Given the description of an element on the screen output the (x, y) to click on. 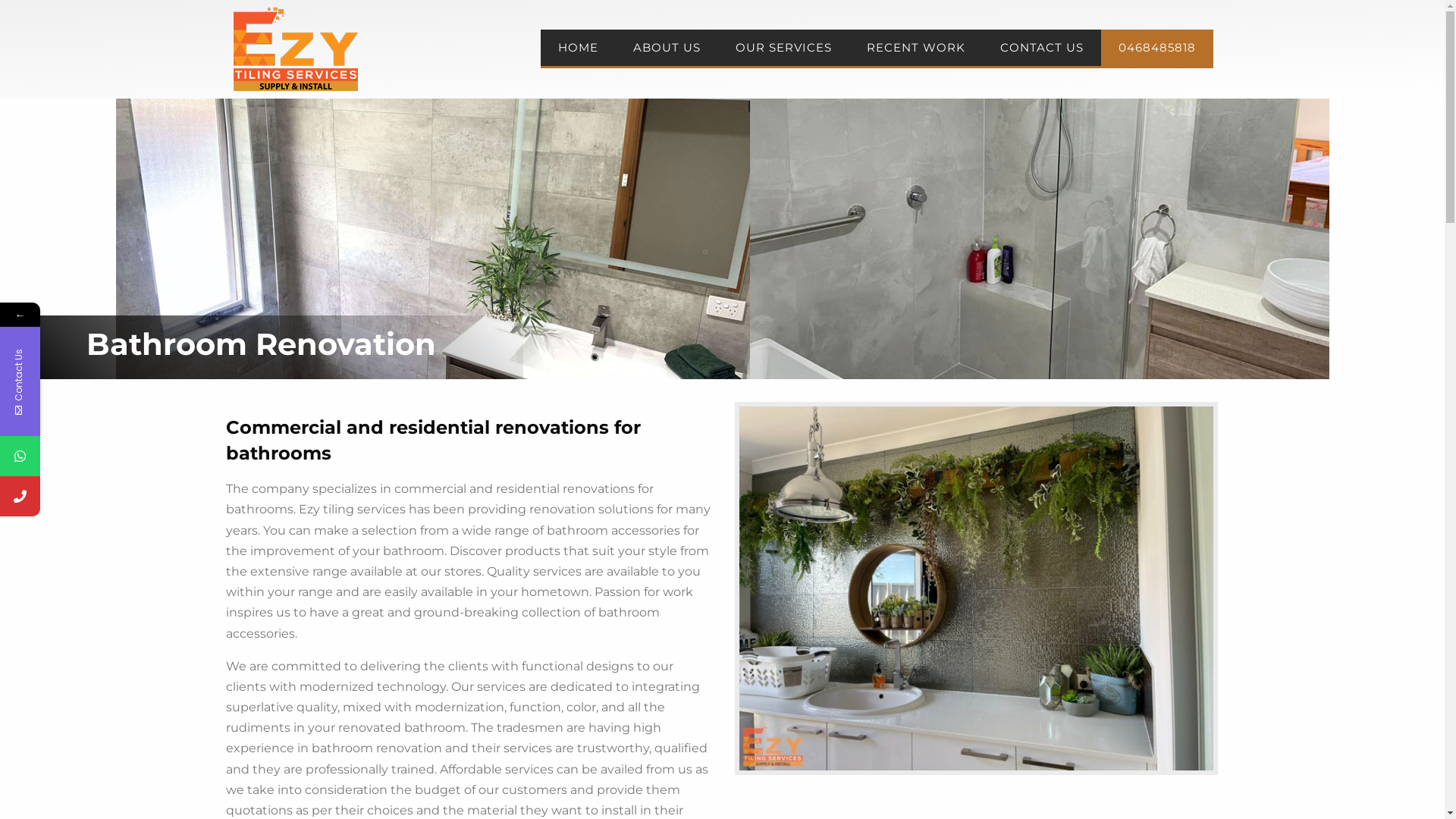
HOME Element type: text (577, 47)
OUR SERVICES Element type: text (782, 47)
0468485818 Element type: text (1157, 47)
Phone Element type: text (92, 496)
ABOUT US Element type: text (666, 47)
Submit Element type: text (196, 622)
WhatsApp Element type: text (92, 456)
CONTACT US Element type: text (1041, 47)
RECENT WORK Element type: text (915, 47)
